Given the description of an element on the screen output the (x, y) to click on. 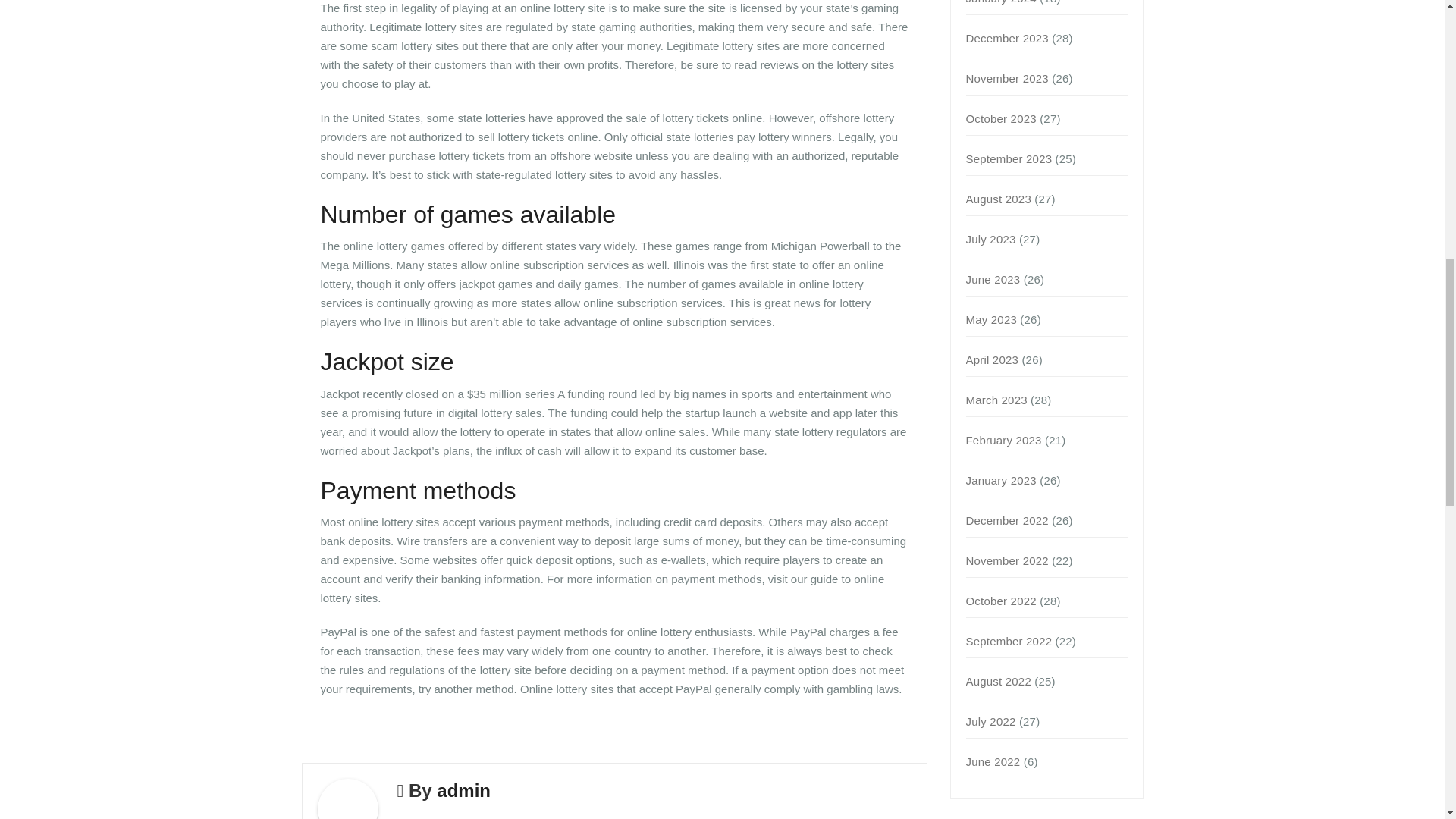
September 2023 (1009, 158)
September 2022 (1009, 640)
November 2023 (1007, 78)
July 2023 (991, 238)
October 2022 (1001, 600)
January 2023 (1001, 480)
January 2024 (1001, 2)
October 2023 (1001, 118)
December 2022 (1007, 520)
December 2023 (1007, 38)
March 2023 (996, 399)
February 2023 (1004, 440)
admin (463, 790)
April 2023 (992, 359)
June 2023 (993, 278)
